Given the description of an element on the screen output the (x, y) to click on. 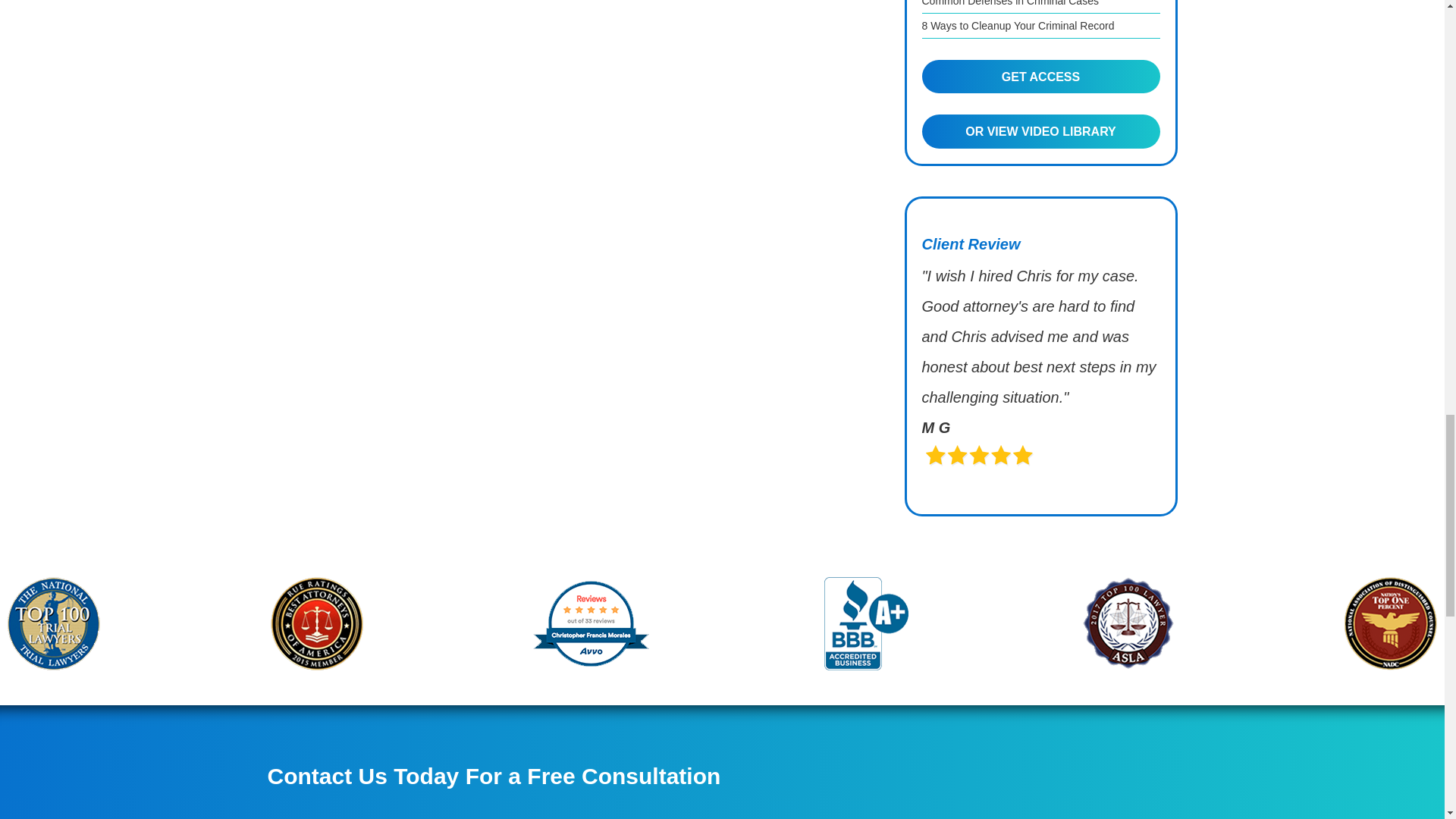
GET ACCESS (1040, 76)
